Given the description of an element on the screen output the (x, y) to click on. 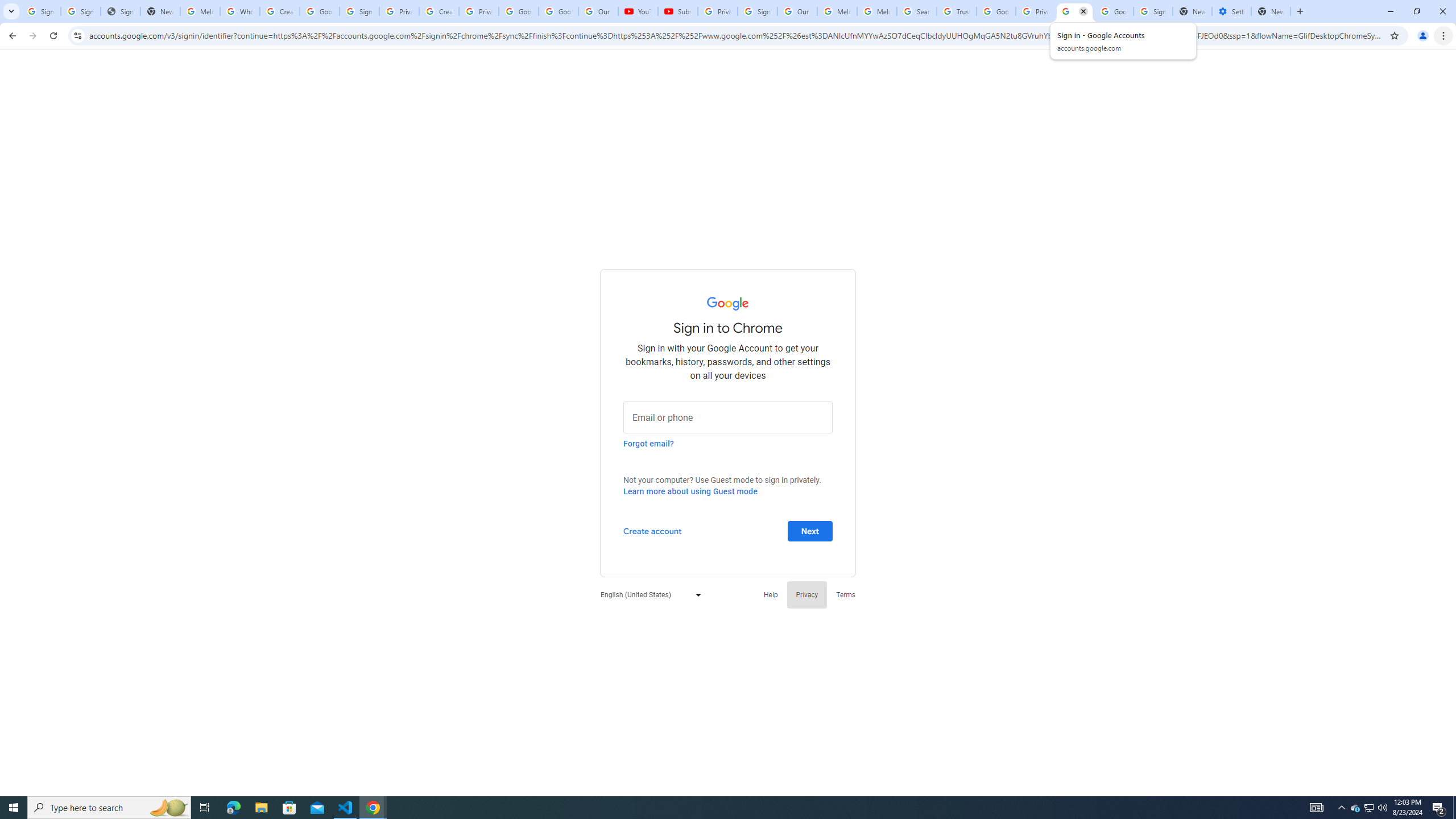
Google Account (557, 11)
Sign in - Google Accounts (80, 11)
Sign in - Google Accounts (757, 11)
Sign in - Google Accounts (1152, 11)
Subscriptions - YouTube (677, 11)
Sign in - Google Accounts (1074, 11)
